Given the description of an element on the screen output the (x, y) to click on. 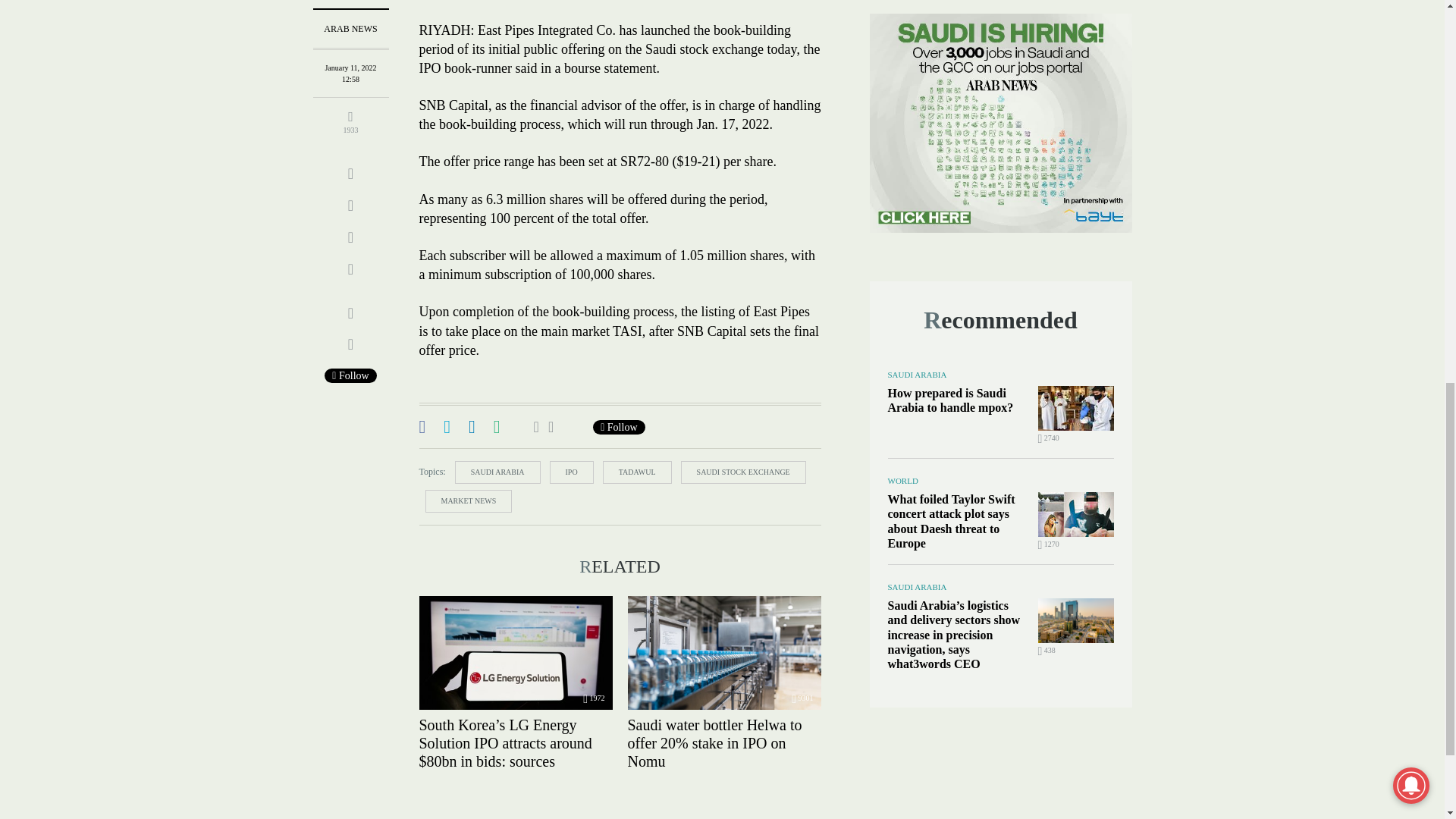
Image: Shutterstock (515, 653)
How prepared is Saudi Arabia to handle mpox? (1074, 407)
